Given the description of an element on the screen output the (x, y) to click on. 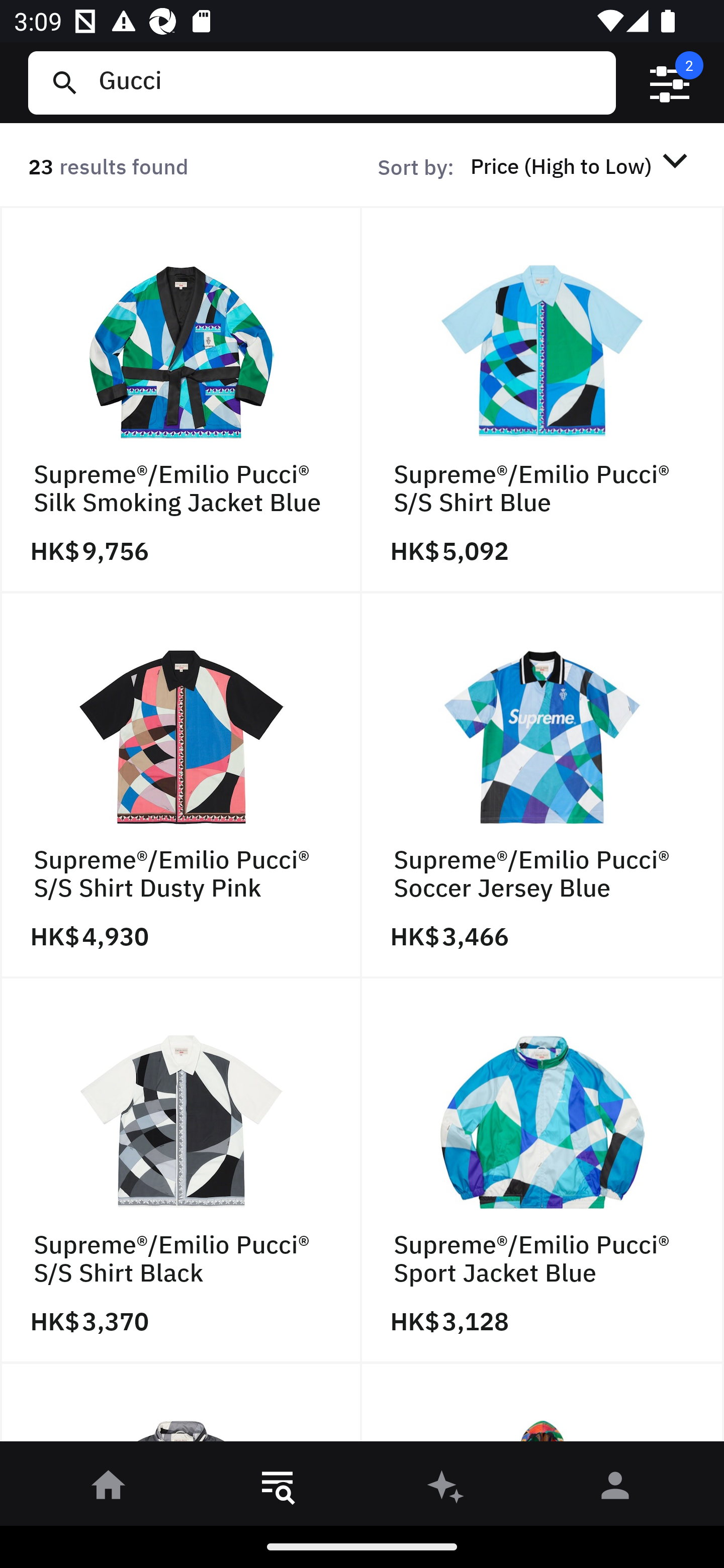
Gucci (349, 82)
 (669, 82)
Price (High to Low)  (582, 165)
Supreme®/Emilio Pucci® S/S Shirt Blue HK$ 5,092 (543, 399)
Supreme®/Emilio Pucci® S/S Shirt Black HK$ 3,370 (181, 1171)
Supreme®/Emilio Pucci® Sport Jacket Blue HK$ 3,128 (543, 1171)
󰋜 (108, 1488)
󱎸 (277, 1488)
󰫢 (446, 1488)
󰀄 (615, 1488)
